Given the description of an element on the screen output the (x, y) to click on. 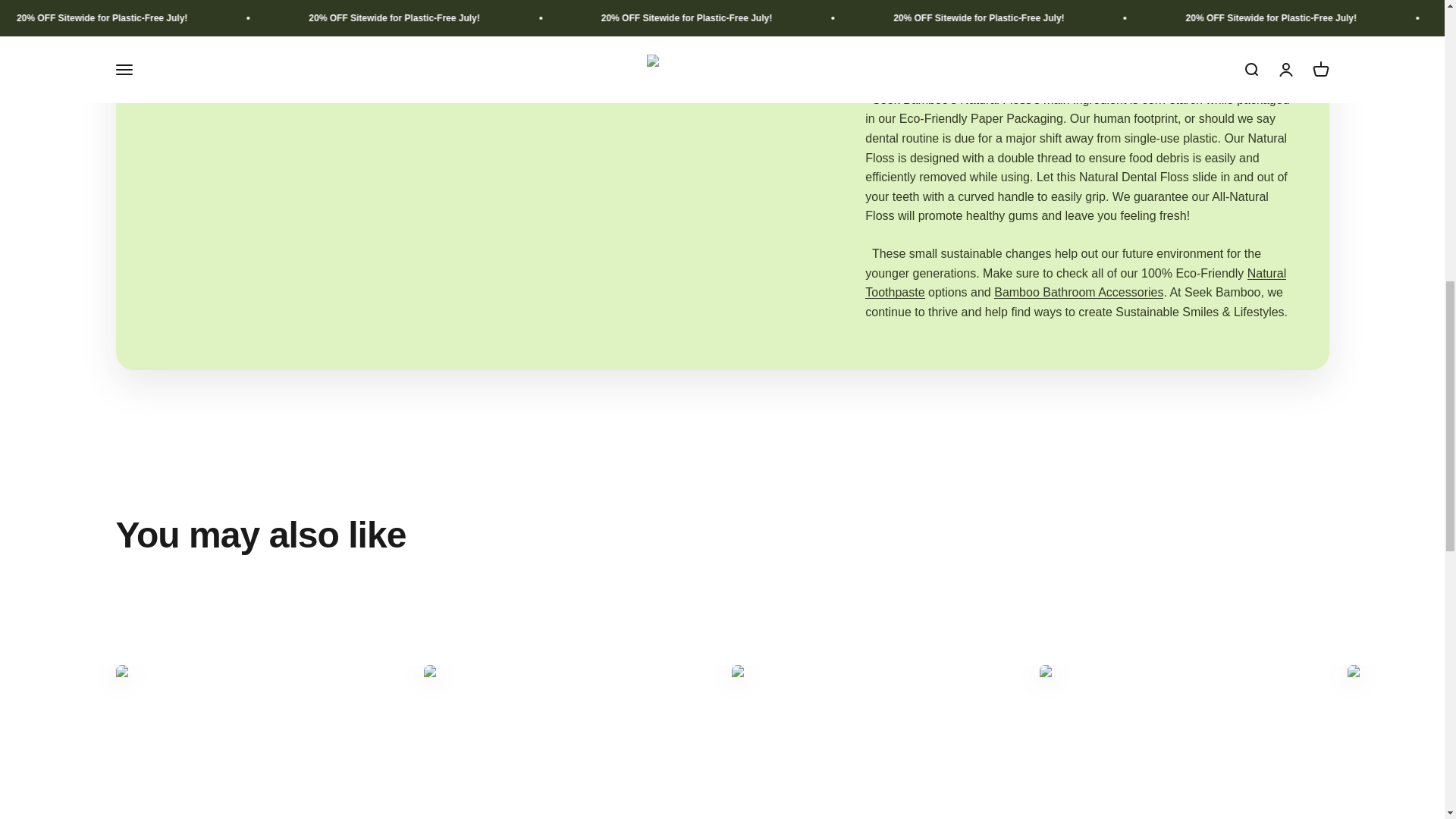
Natural Toothpaste (1074, 282)
Bamboo Bathroom Accessories (1078, 291)
Bamboo Bathroom Accessories (1078, 291)
Natural Toothpastes (1074, 282)
